Given the description of an element on the screen output the (x, y) to click on. 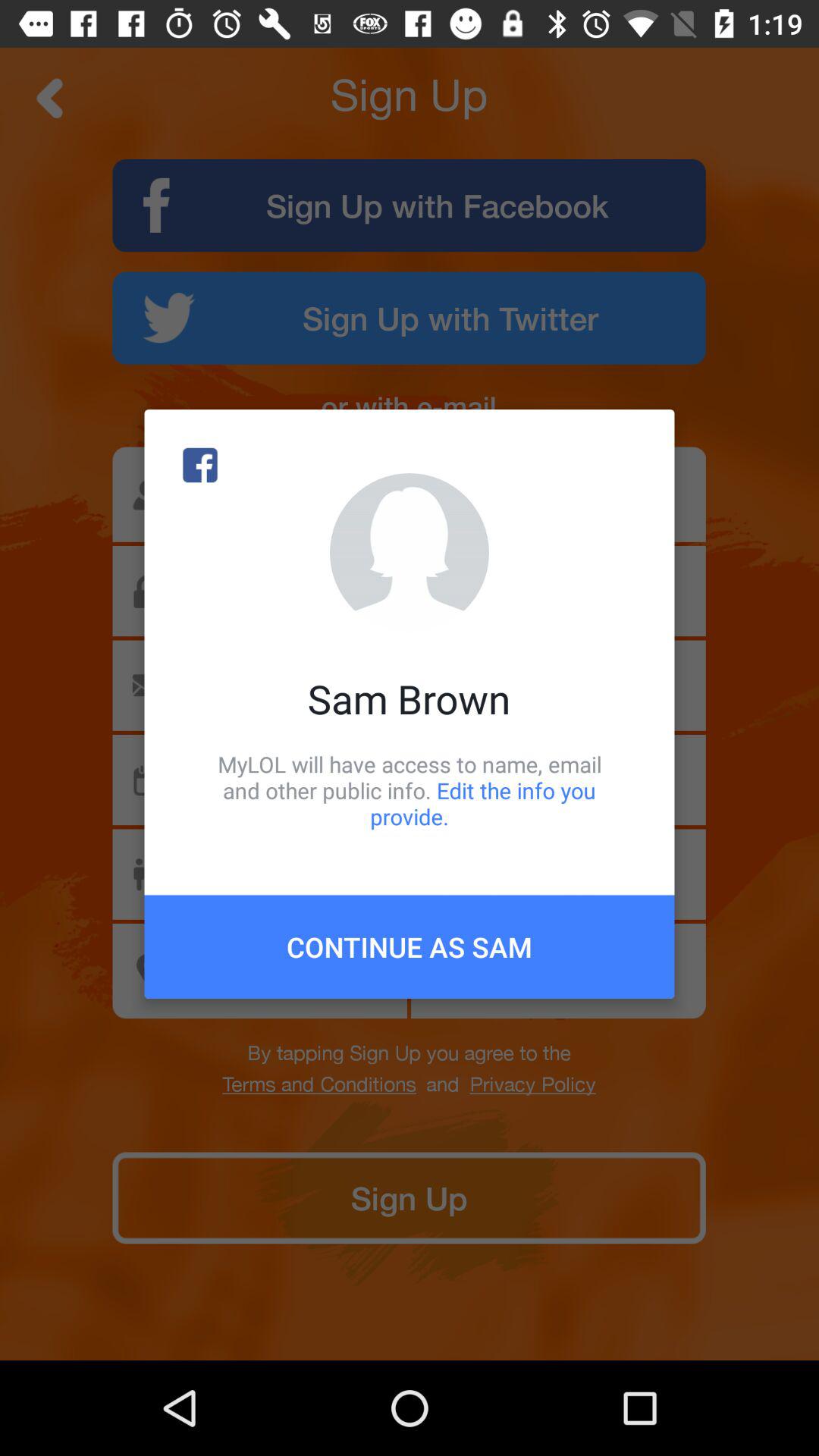
select the continue as sam (409, 946)
